Given the description of an element on the screen output the (x, y) to click on. 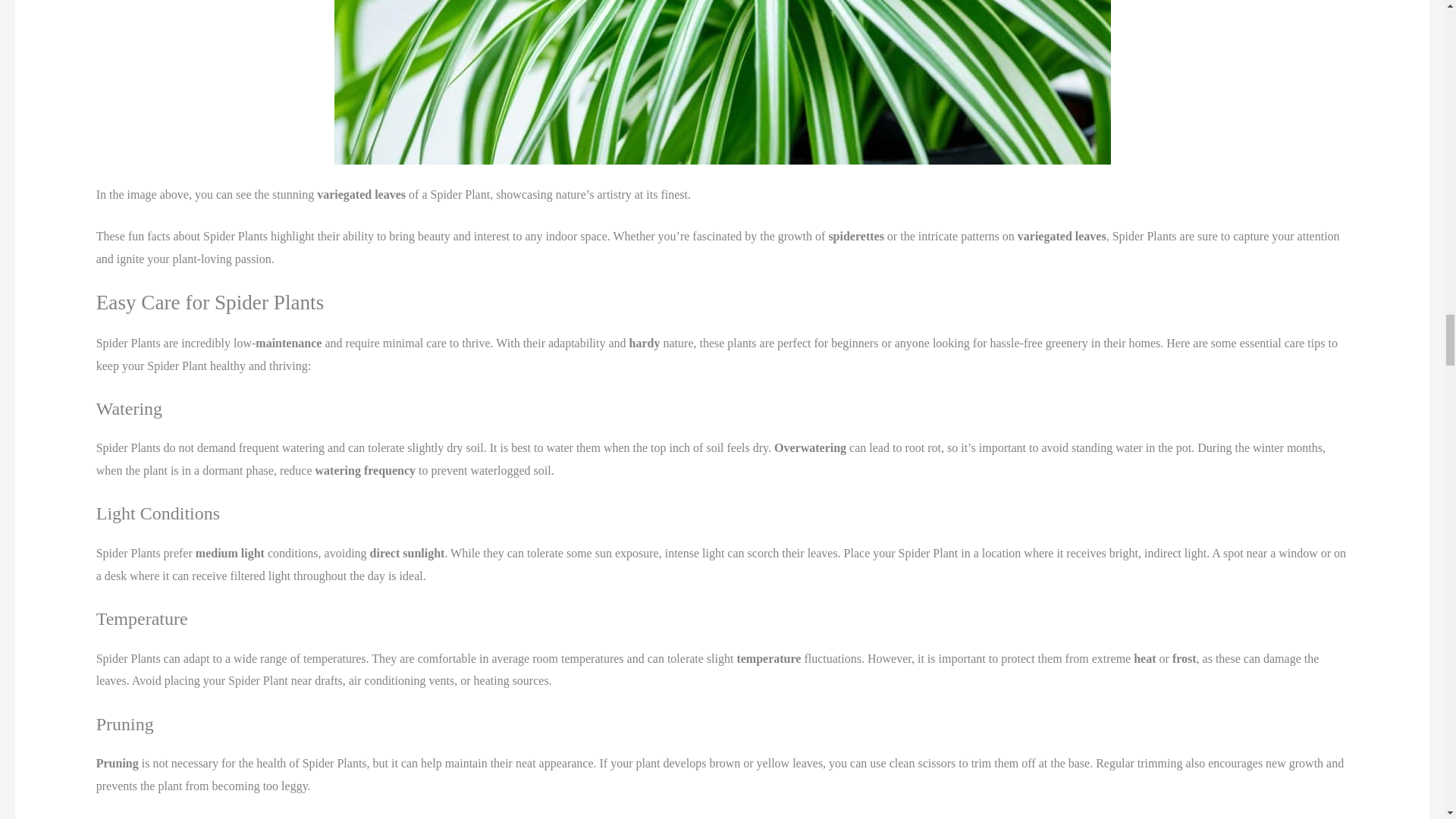
Spider Plant (721, 82)
